Given the description of an element on the screen output the (x, y) to click on. 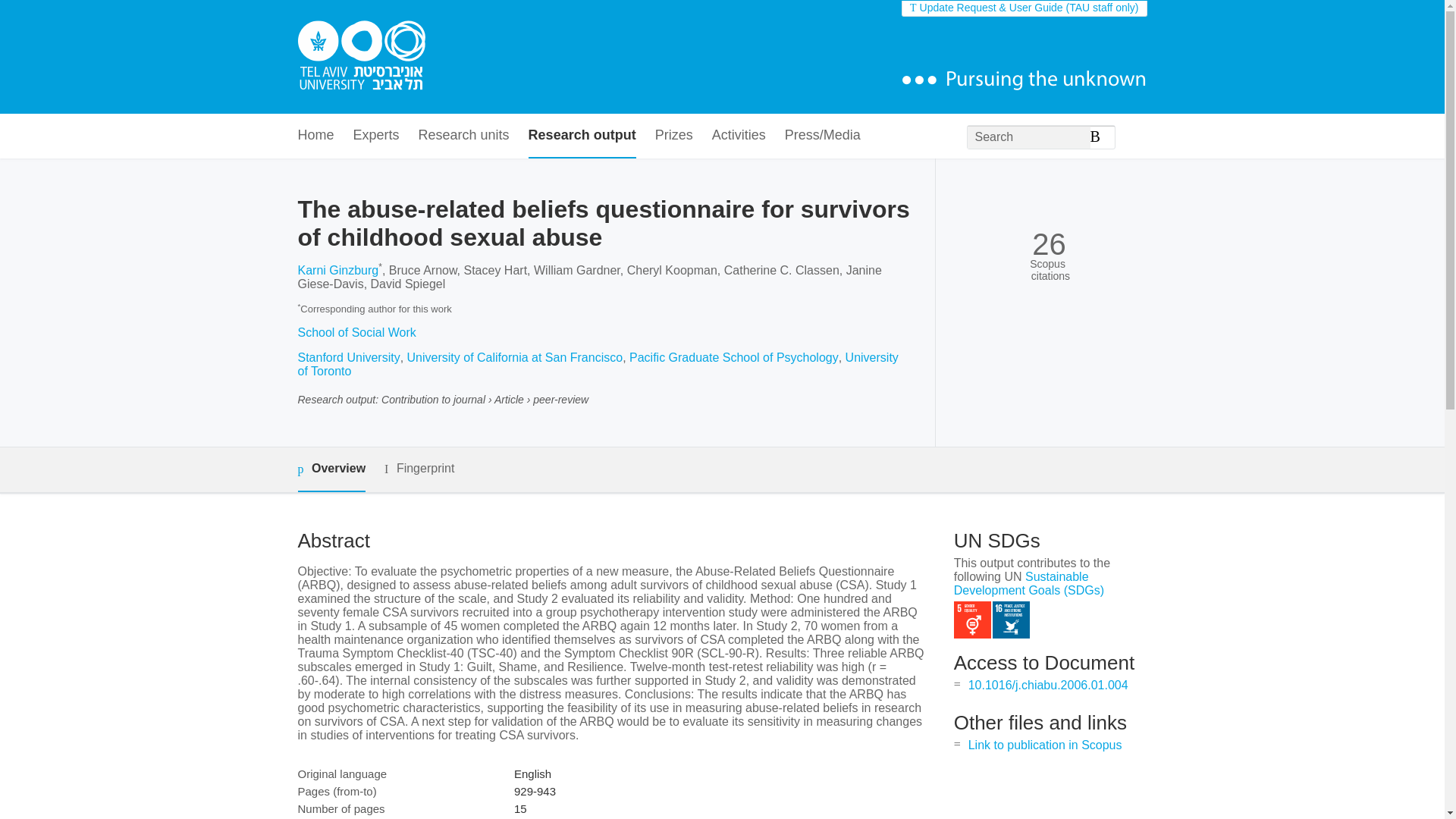
University of California at San Francisco (515, 357)
University of Toronto (597, 364)
School of Social Work (355, 332)
Karni Ginzburg (337, 269)
Pacific Graduate School of Psychology (733, 357)
SDG 5 - Gender Equality (972, 619)
Stanford University (347, 357)
Research units (464, 135)
Fingerprint (419, 468)
SDG 16 - Peace, Justice and Strong Institutions (1010, 619)
